Given the description of an element on the screen output the (x, y) to click on. 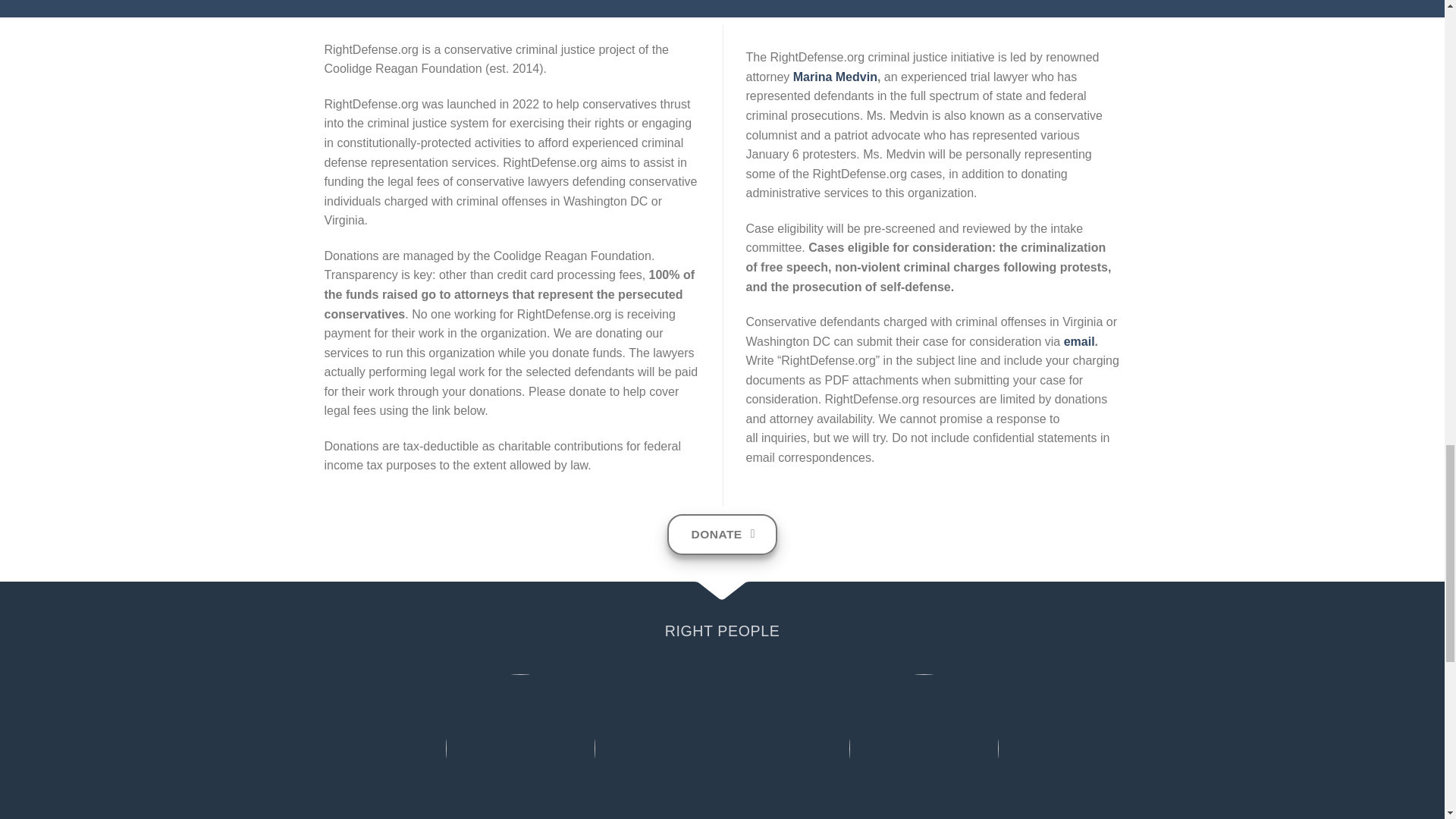
DONATE (721, 534)
email (1079, 341)
Marina Medvin (835, 76)
